Given the description of an element on the screen output the (x, y) to click on. 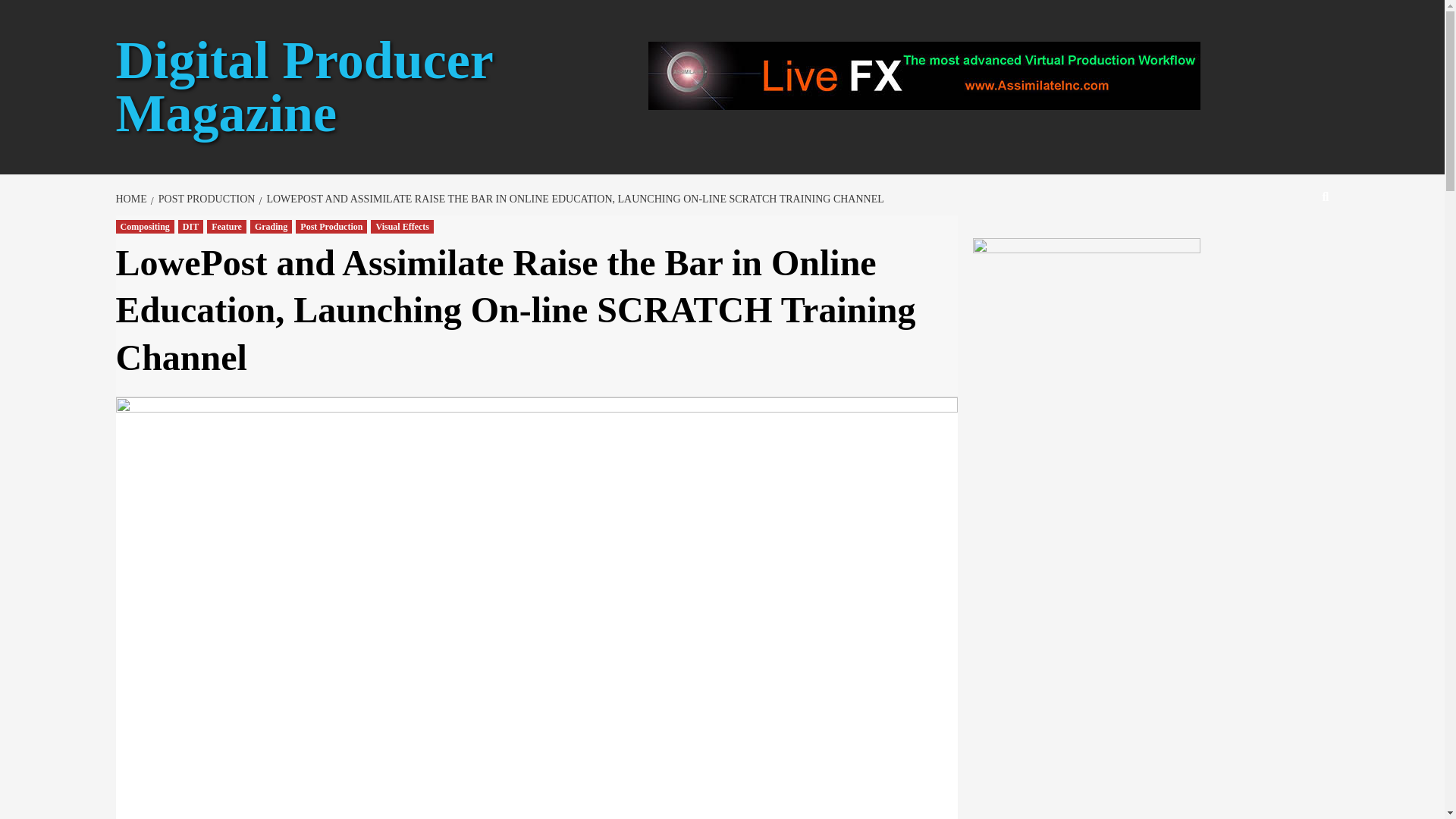
Post Production (330, 226)
Feature (226, 226)
Compositing (144, 226)
Grading (271, 226)
Visual Effects (402, 226)
HOME (132, 198)
DIT (190, 226)
Digital Producer Magazine (303, 86)
POST PRODUCTION (205, 198)
